Given the description of an element on the screen output the (x, y) to click on. 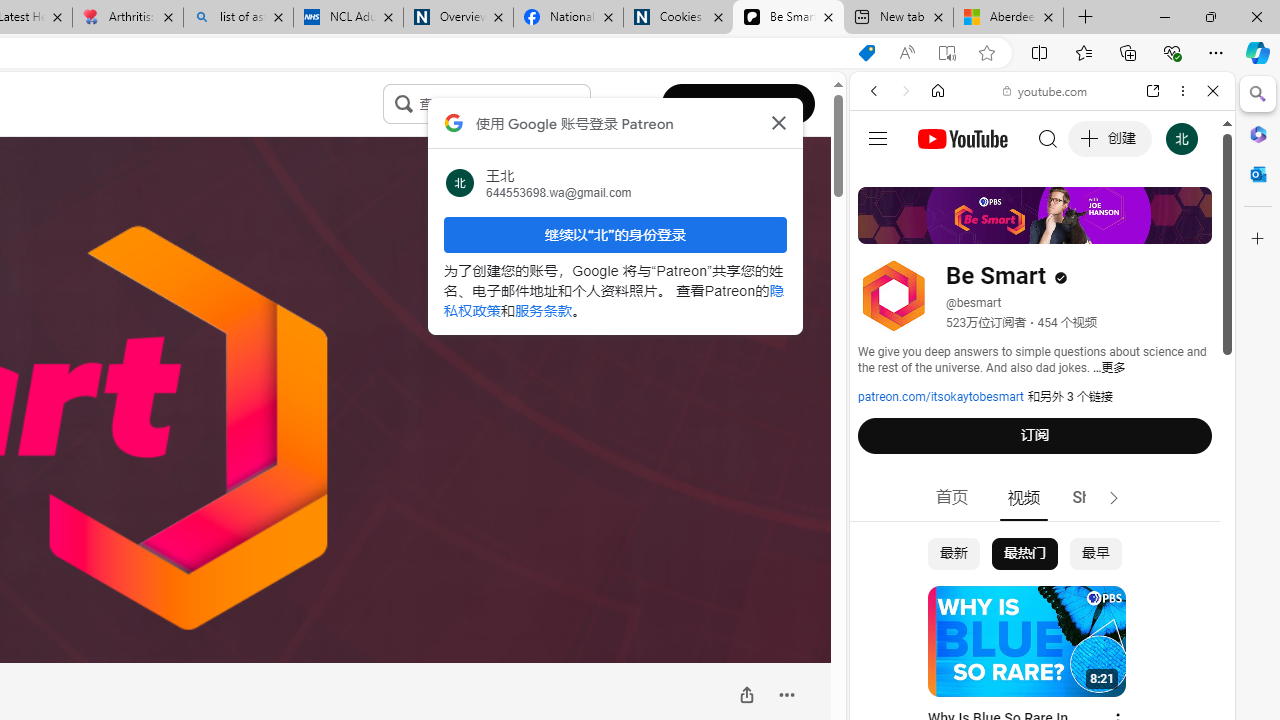
AutomationID: right (1113, 497)
Trailer #2 [HD] (1042, 592)
YouTube (1034, 296)
Search Filter, IMAGES (939, 228)
Music (1042, 543)
Forward (906, 91)
This site scope (936, 180)
Trailer #2 [HD] (1042, 594)
IMAGES (939, 228)
